Given the description of an element on the screen output the (x, y) to click on. 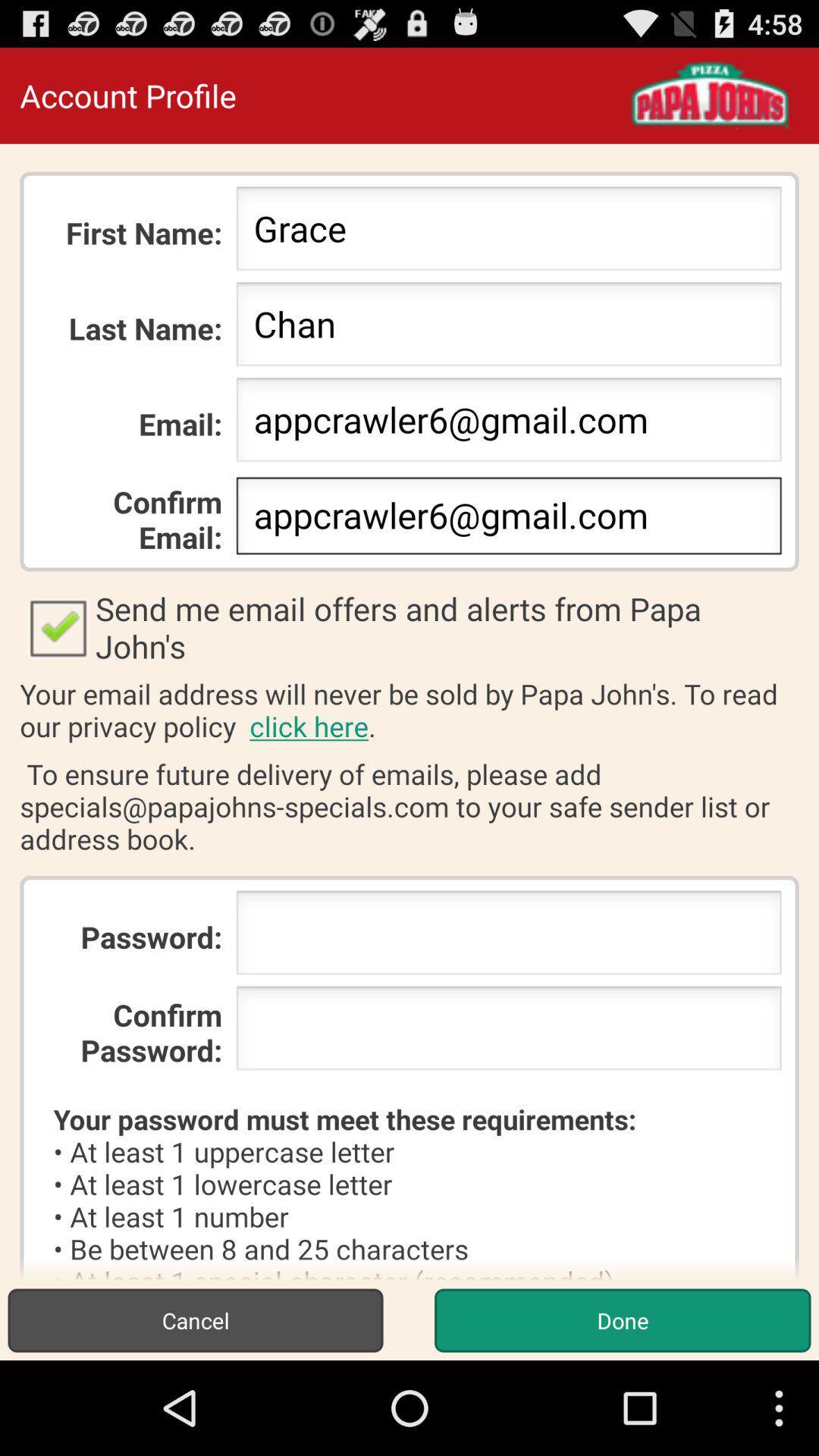
press icon above appcrawler6@gmail.com (508, 328)
